Given the description of an element on the screen output the (x, y) to click on. 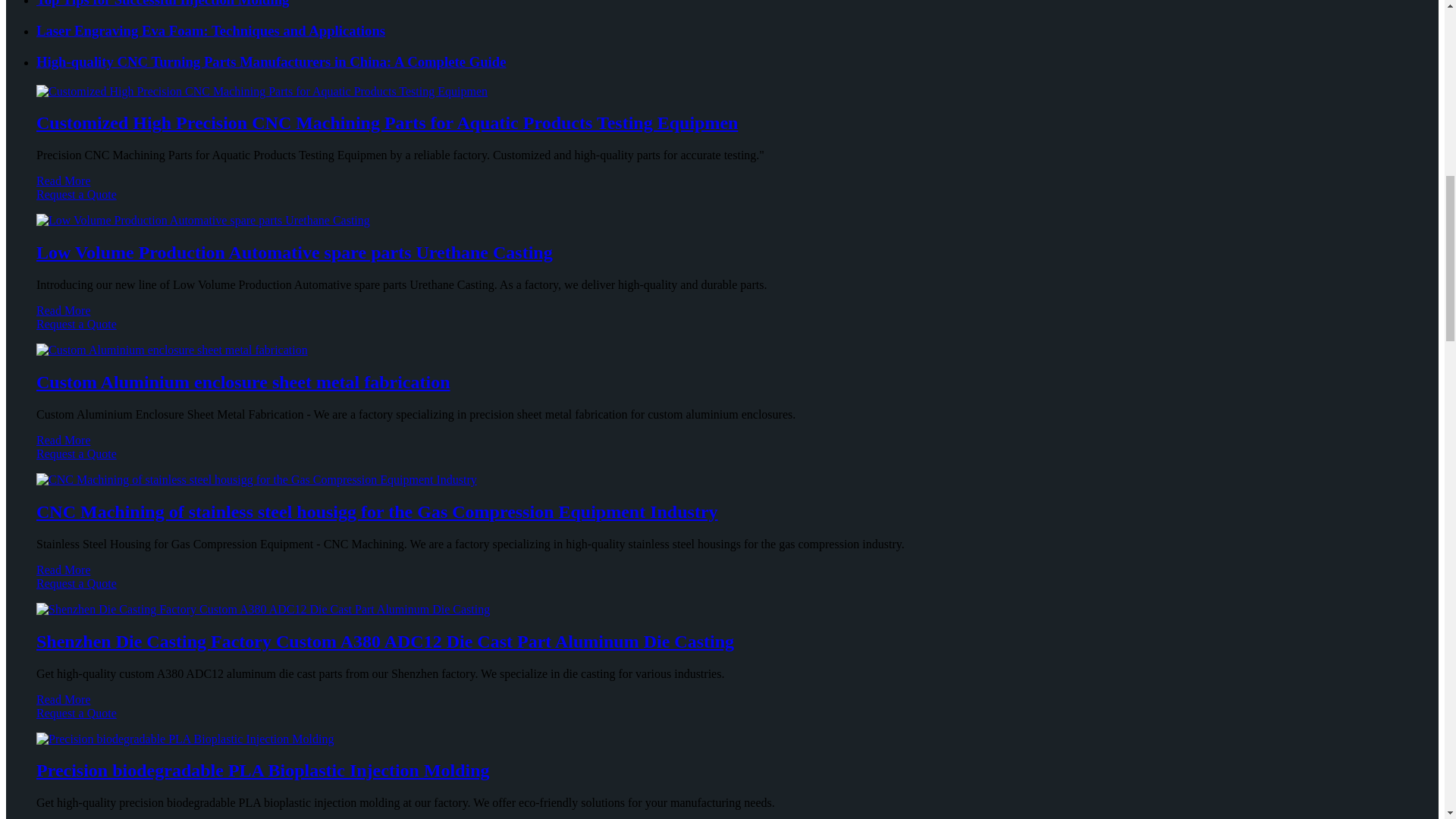
Request a Quote (721, 330)
Read More (63, 440)
Read More (63, 309)
Read More (63, 180)
Request a Quote (721, 461)
Custom Aluminium enclosure sheet metal fabrication (242, 382)
Request a Quote (721, 201)
